Given the description of an element on the screen output the (x, y) to click on. 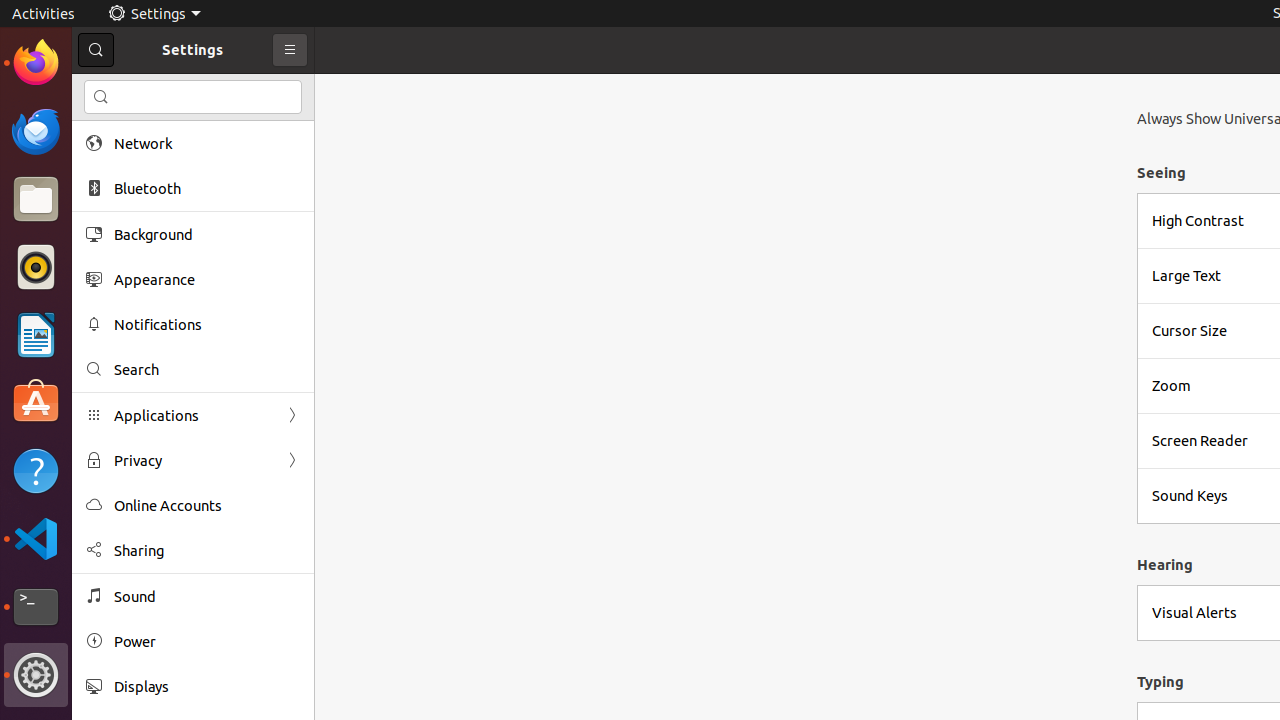
edit-find-symbolic Element type: icon (101, 97)
Displays Element type: label (207, 686)
Applications Element type: label (193, 415)
Activities Element type: label (43, 13)
